Given the description of an element on the screen output the (x, y) to click on. 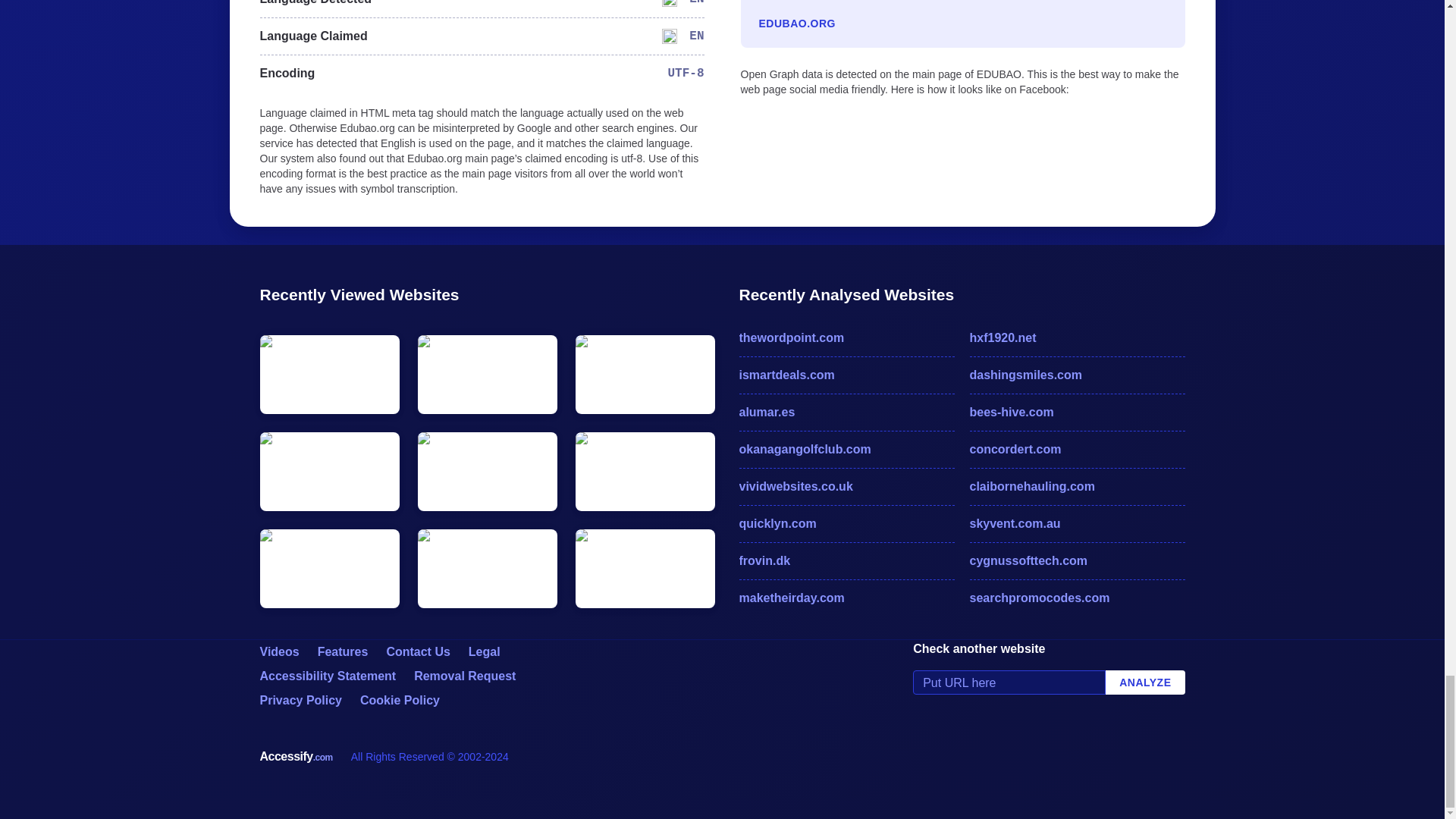
quicklyn.com (845, 524)
Legal (484, 651)
dashingsmiles.com (1077, 375)
hxf1920.net (1077, 338)
frovin.dk (845, 561)
Videos (278, 651)
Features (342, 651)
cygnussofttech.com (1077, 561)
vividwebsites.co.uk (845, 486)
